Given the description of an element on the screen output the (x, y) to click on. 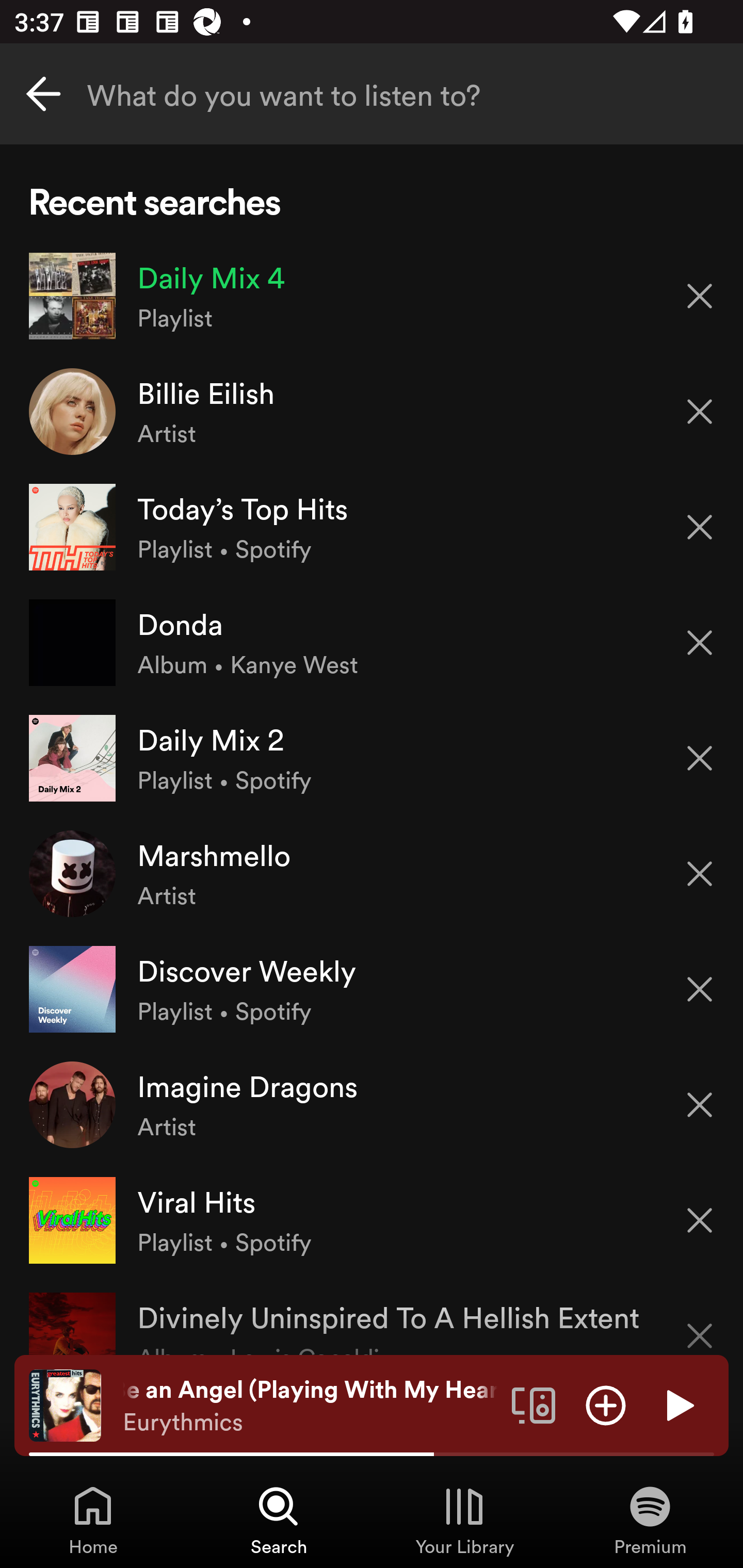
What do you want to listen to? (371, 93)
Cancel (43, 93)
Daily Mix 4 Playlist Remove (371, 296)
Remove (699, 295)
Billie Eilish Artist Remove (371, 411)
Remove (699, 411)
Today’s Top Hits Playlist • Spotify Remove (371, 526)
Remove (699, 527)
Donda Album • Kanye West Remove (371, 642)
Remove (699, 642)
Daily Mix 2 Playlist • Spotify Remove (371, 757)
Remove (699, 758)
Marshmello Artist Remove (371, 873)
Remove (699, 874)
Discover Weekly Playlist • Spotify Remove (371, 989)
Remove (699, 989)
Imagine Dragons Artist Remove (371, 1104)
Remove (699, 1104)
Viral Hits Playlist • Spotify Remove (371, 1219)
Remove (699, 1220)
Remove (699, 1323)
The cover art of the currently playing track (64, 1404)
Connect to a device. Opens the devices menu (533, 1404)
Add item (605, 1404)
Play (677, 1404)
Home, Tab 1 of 4 Home Home (92, 1519)
Search, Tab 2 of 4 Search Search (278, 1519)
Your Library, Tab 3 of 4 Your Library Your Library (464, 1519)
Premium, Tab 4 of 4 Premium Premium (650, 1519)
